Given the description of an element on the screen output the (x, y) to click on. 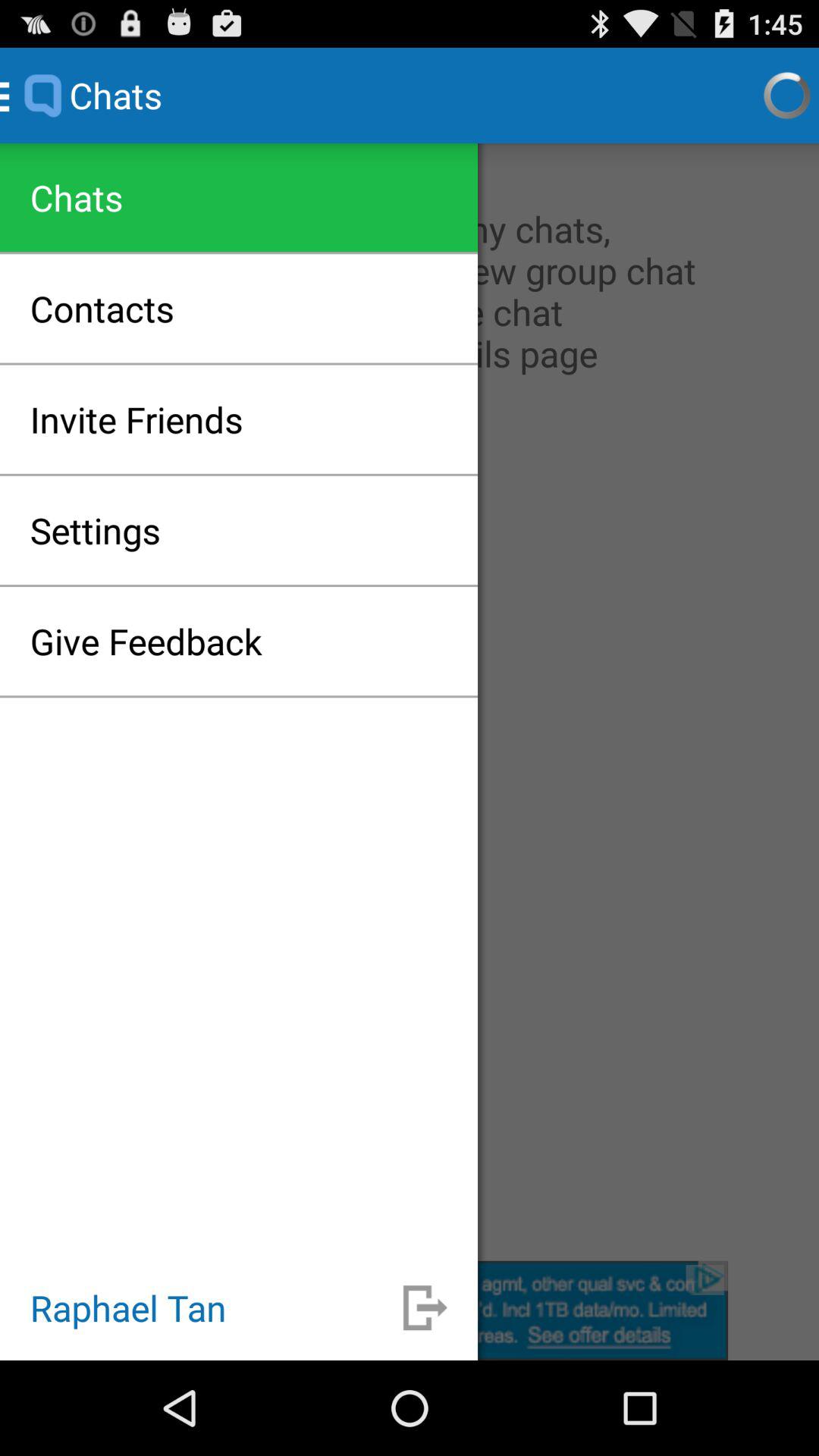
jump until the contacts (102, 308)
